Given the description of an element on the screen output the (x, y) to click on. 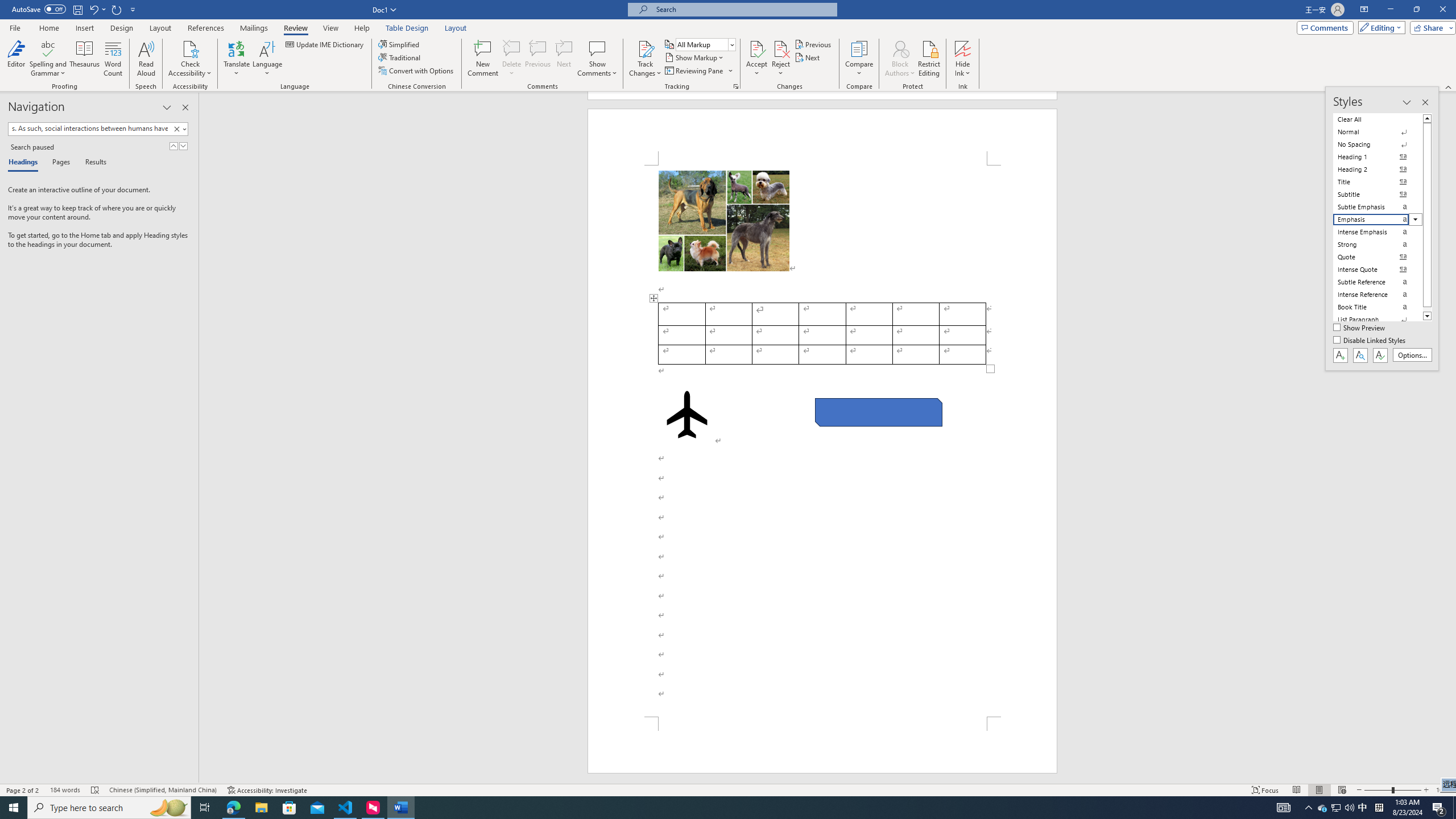
Previous (813, 44)
Reviewing Pane (698, 69)
Hide Ink (962, 48)
Show Comments (597, 58)
Accept (756, 58)
Thesaurus... (84, 58)
Reviewing Pane (694, 69)
Block Authors (900, 48)
